Given the description of an element on the screen output the (x, y) to click on. 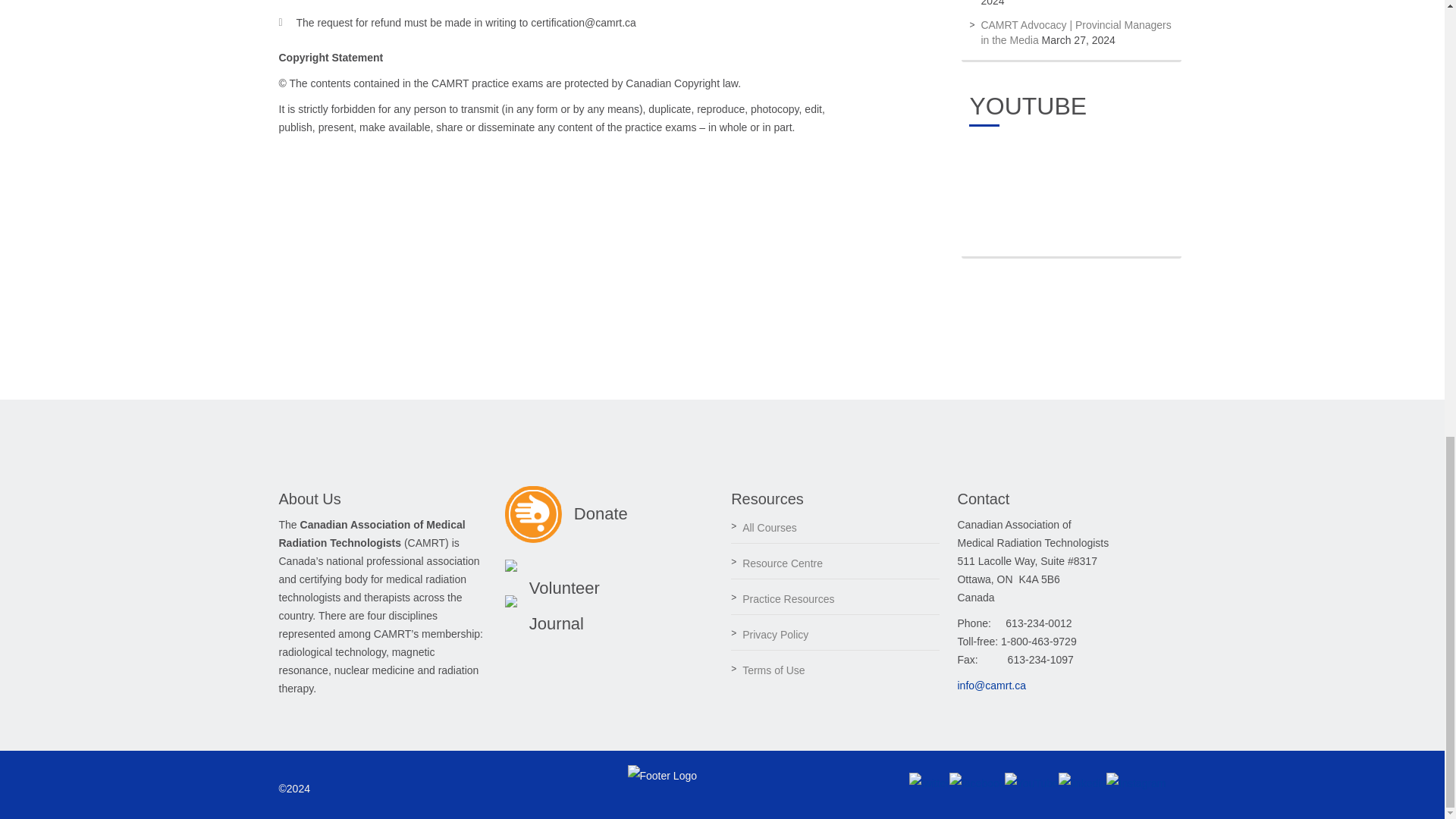
Footer Logo (662, 775)
Resource Centre (782, 563)
All Courses (769, 527)
Terms of Use (773, 670)
Privacy Policy (775, 634)
